Given the description of an element on the screen output the (x, y) to click on. 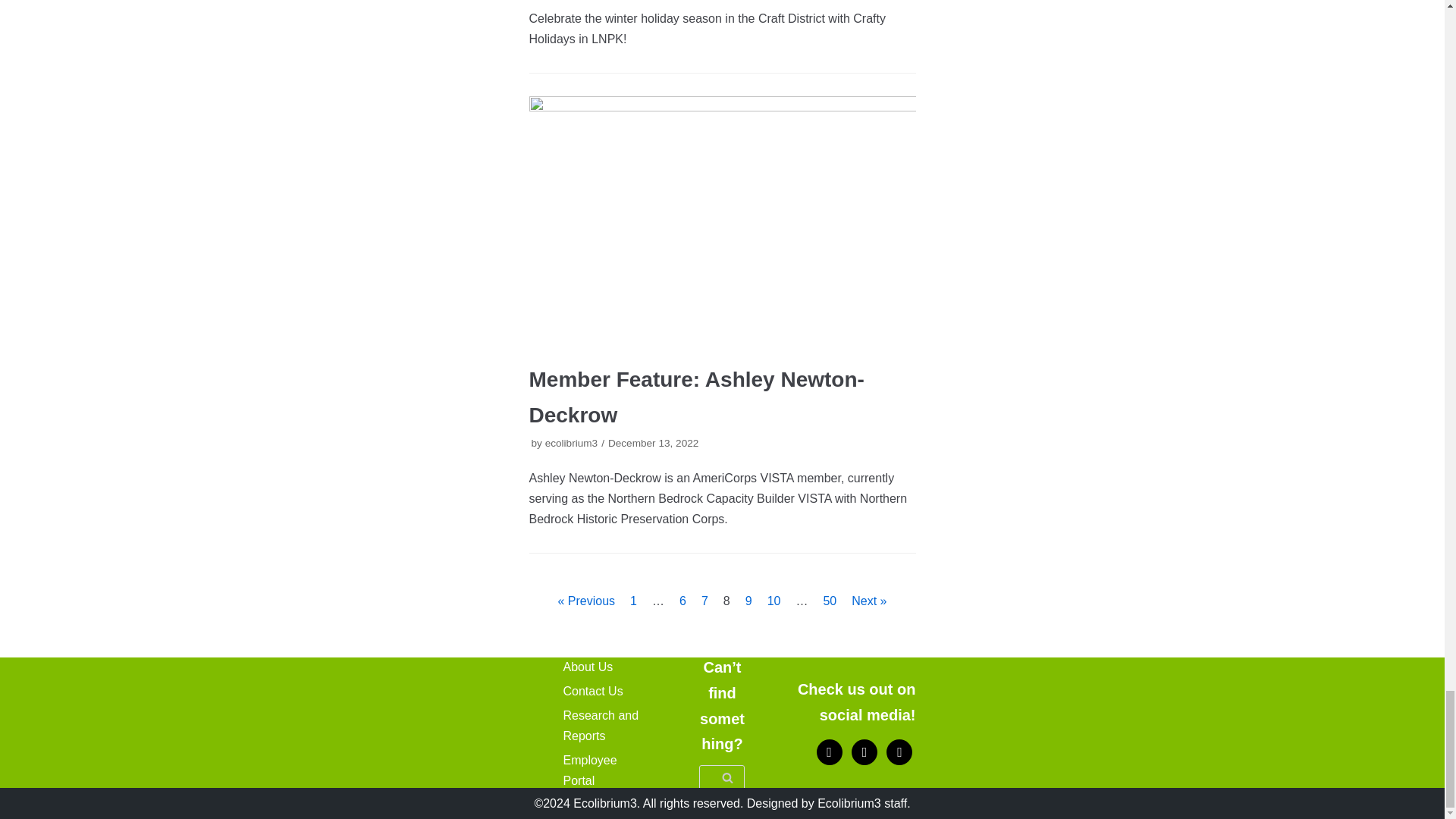
Search (727, 777)
Search (727, 777)
